Given the description of an element on the screen output the (x, y) to click on. 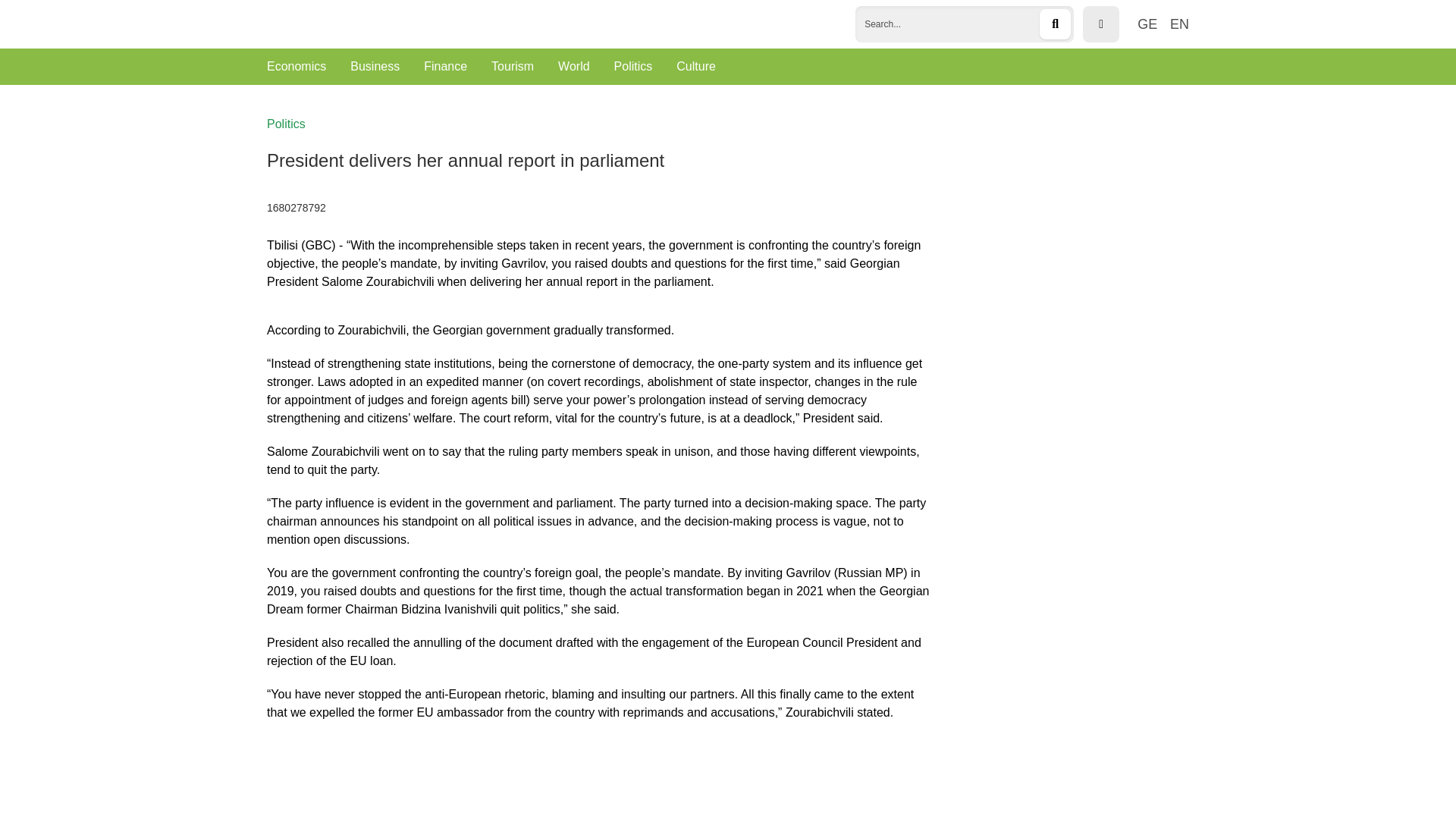
World (573, 65)
Politics (633, 65)
EN (1179, 23)
Tourism (513, 65)
Business (374, 65)
Politics (285, 124)
Finance (445, 65)
Economics (296, 65)
Culture (696, 65)
GE (1147, 23)
